Given the description of an element on the screen output the (x, y) to click on. 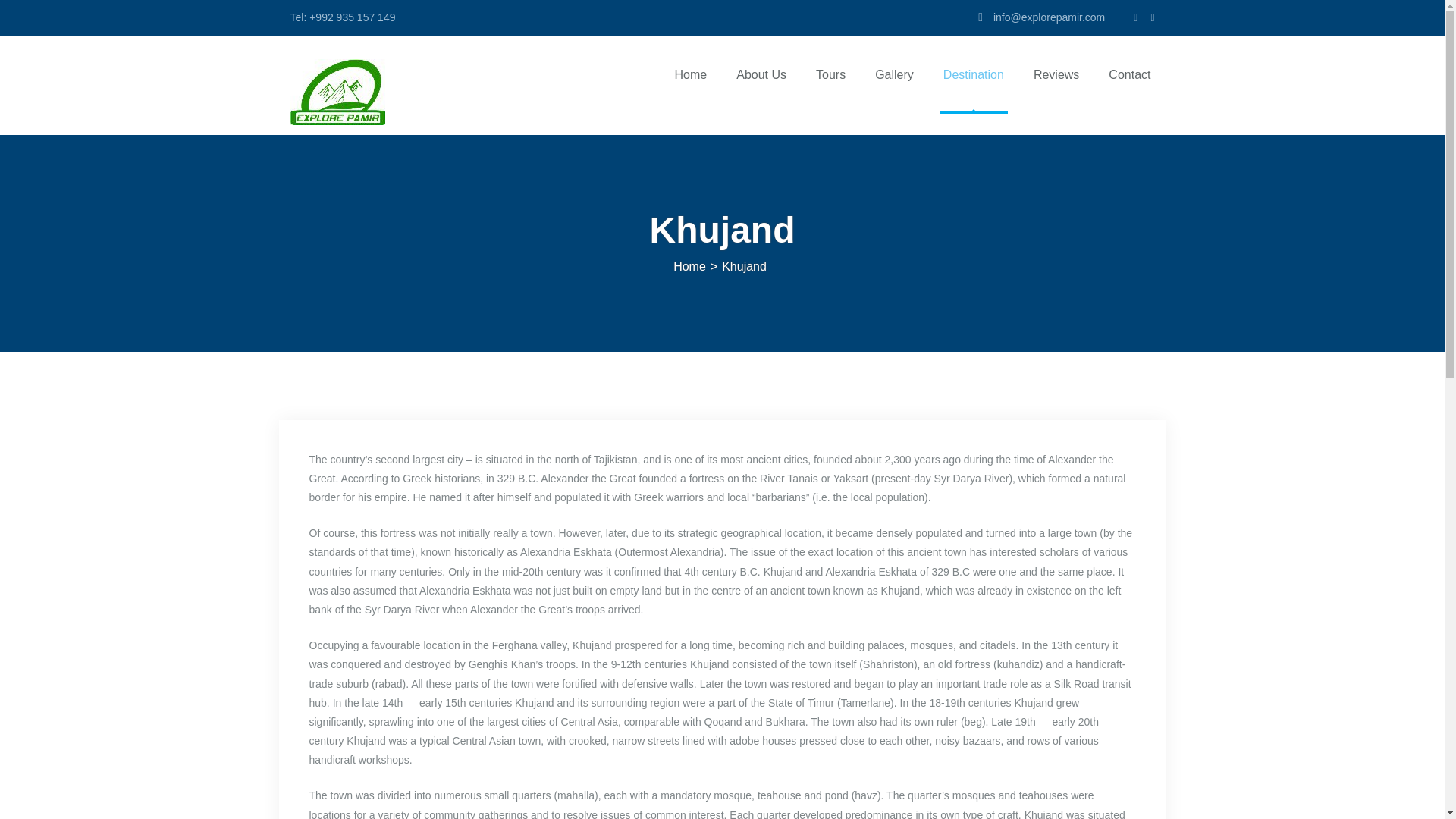
Gallery (893, 88)
Home (689, 266)
Home (691, 88)
About Us (761, 88)
Destination (973, 88)
